Given the description of an element on the screen output the (x, y) to click on. 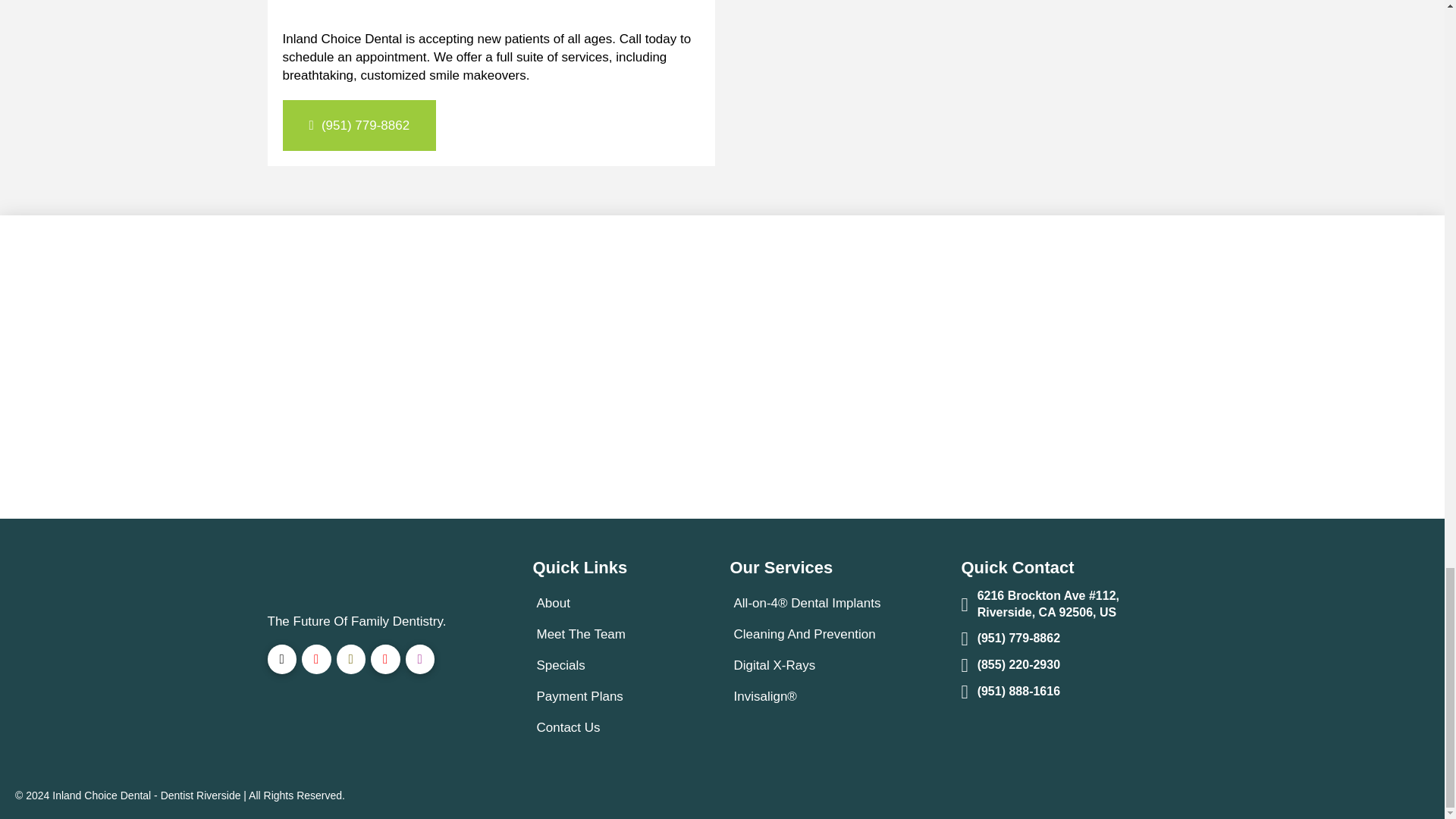
Contact Us (570, 726)
Specials (563, 665)
Payment Plans (581, 695)
Digital X-Rays (776, 665)
About (555, 603)
Meet The Team (583, 634)
Cleaning And Prevention (806, 634)
